Given the description of an element on the screen output the (x, y) to click on. 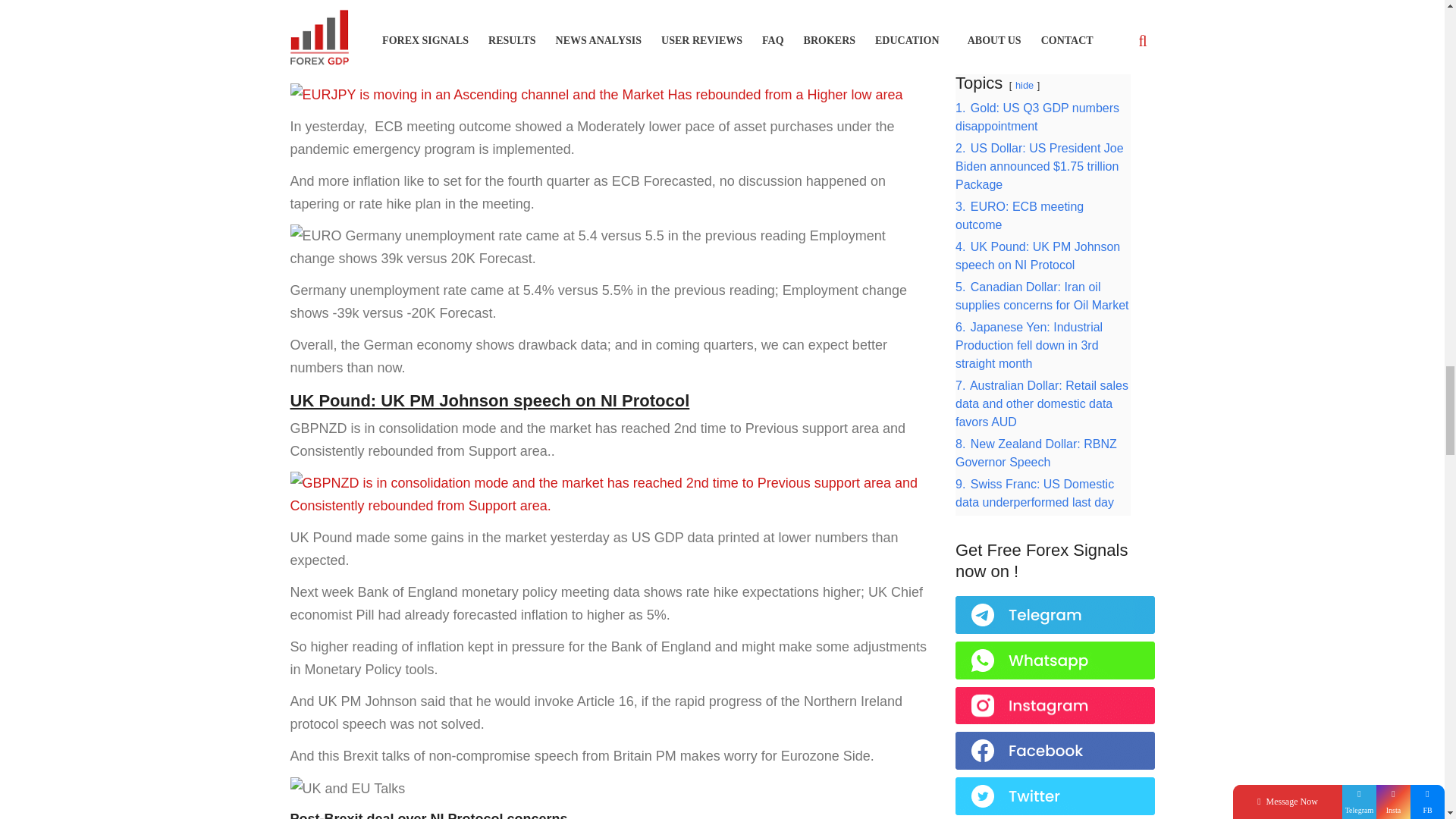
UK and EU Talks  (346, 788)
